Given the description of an element on the screen output the (x, y) to click on. 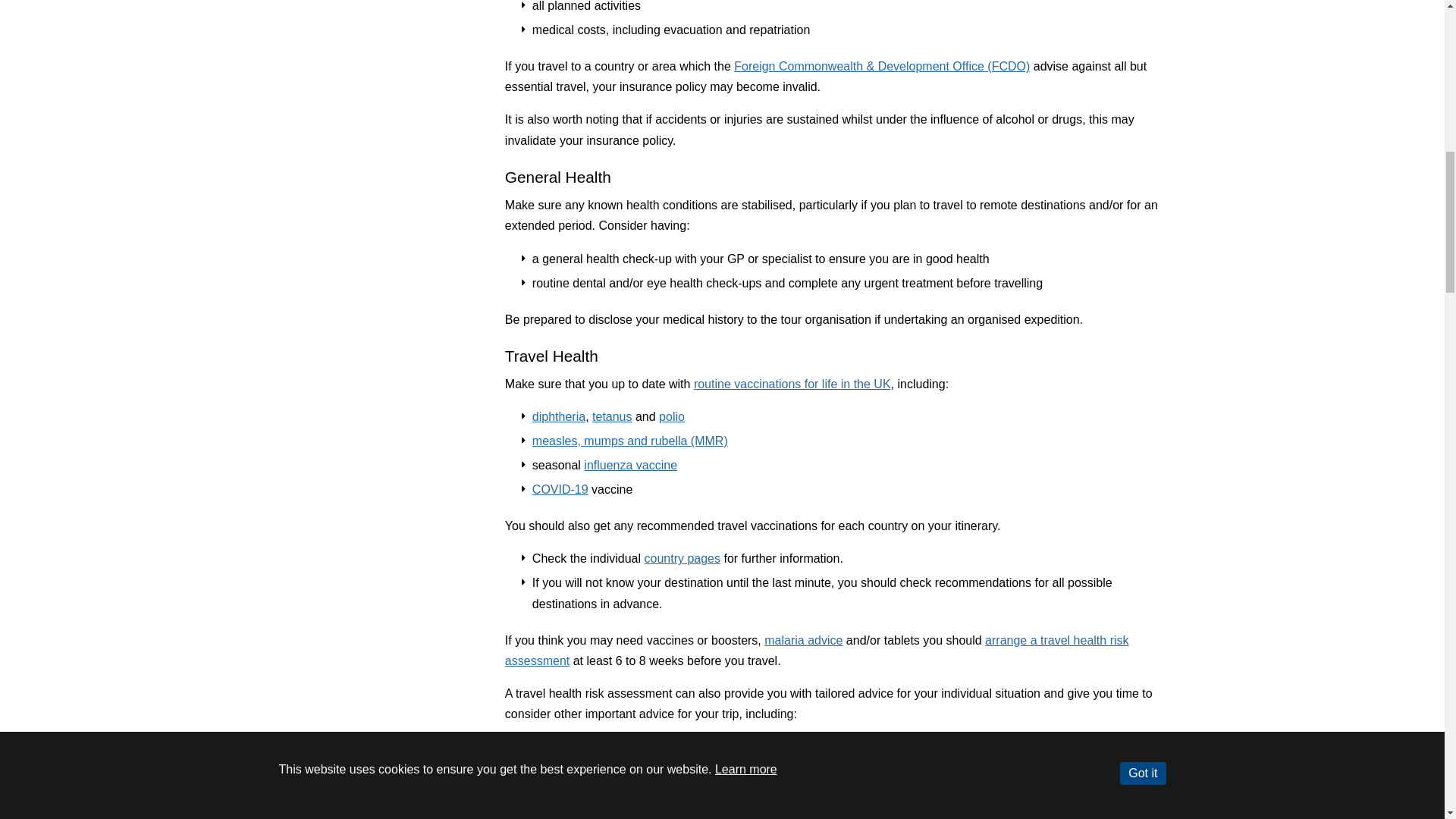
diphtheria (558, 416)
Poliomyelitis (671, 416)
Tetanus (611, 416)
routine vaccinations for life in the UK (792, 383)
Rabies (720, 816)
Malaria (803, 640)
Snake Bites (634, 816)
COVID-19 (560, 489)
Before You Travel (817, 650)
travellers diarrhoea (584, 770)
country pages (682, 558)
malaria advice (803, 640)
FCDO Foreign Travel Advice pages (881, 65)
mosquito bite avoidance (597, 794)
UK Vaccination Schedule (792, 383)
